Given the description of an element on the screen output the (x, y) to click on. 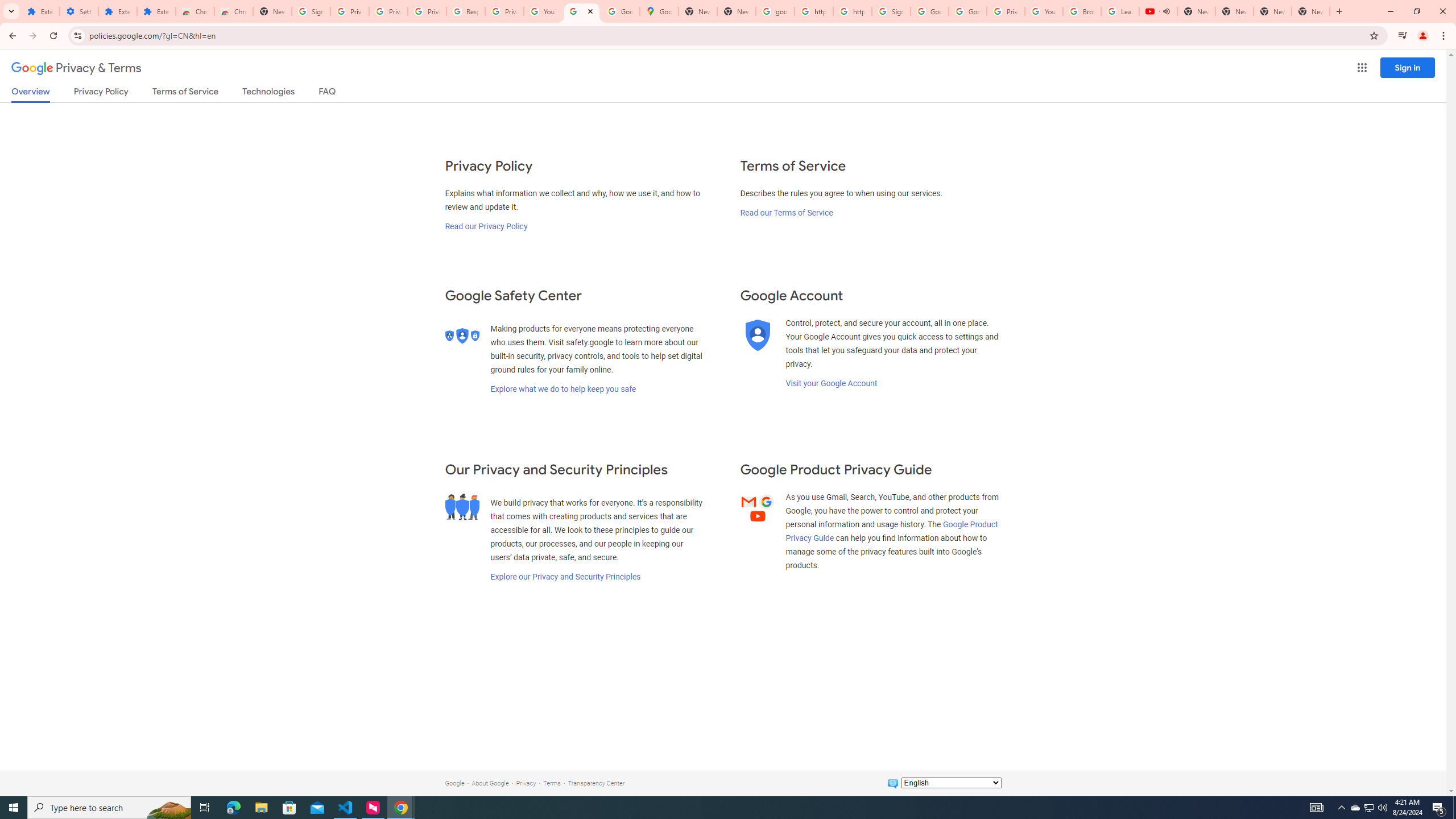
Google (454, 783)
Privacy Policy (100, 93)
https://scholar.google.com/ (852, 11)
YouTube (542, 11)
Browse Chrome as a guest - Computer - Google Chrome Help (1082, 11)
Read our Terms of Service (785, 212)
YouTube (1043, 11)
FAQ (327, 93)
Address and search bar (725, 35)
